Given the description of an element on the screen output the (x, y) to click on. 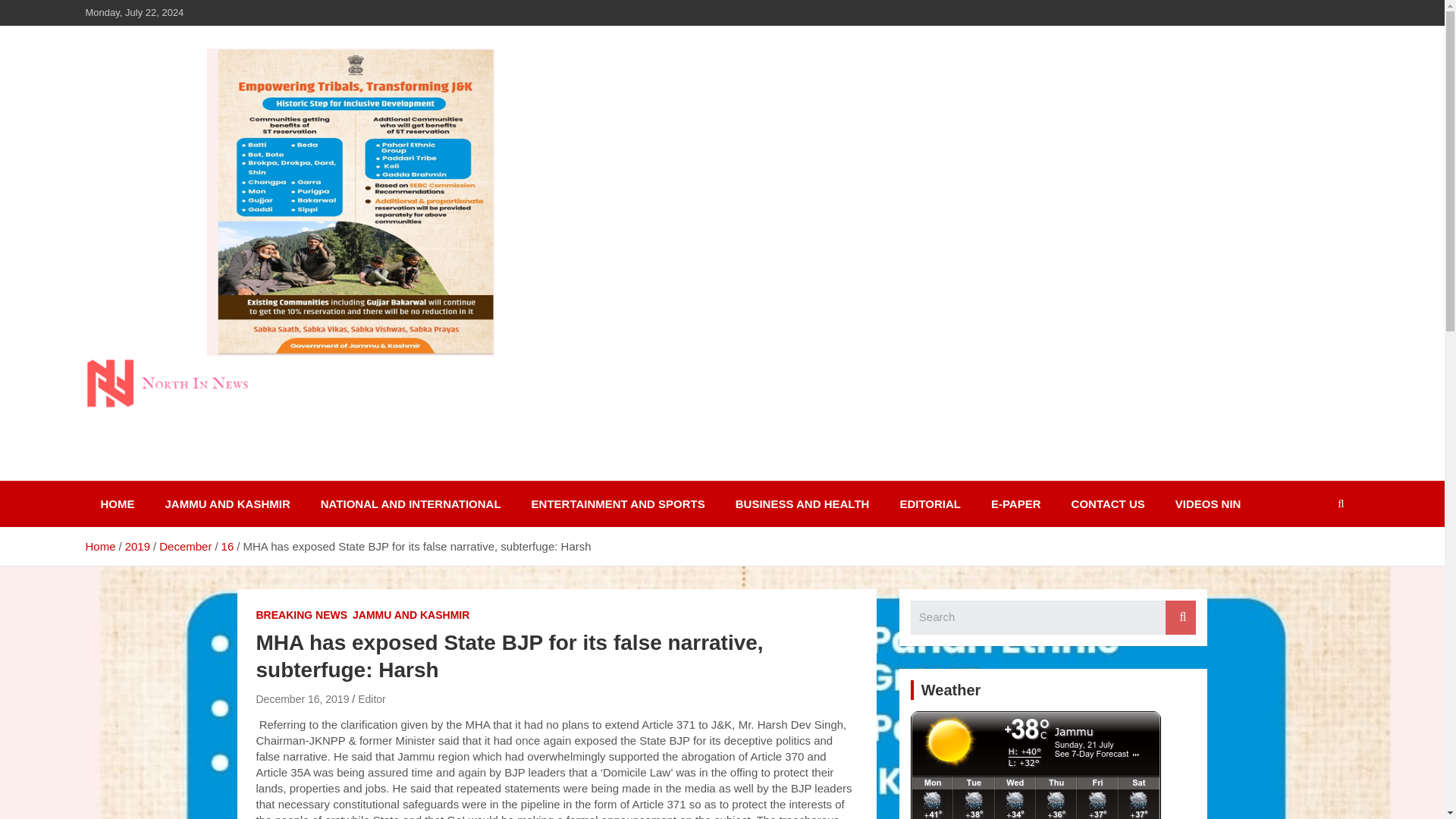
E-PAPER (1016, 503)
Home (99, 545)
JAMMU AND KASHMIR (227, 503)
HOME (116, 503)
JAMMU AND KASHMIR (410, 615)
December (184, 545)
EDITORIAL (929, 503)
2019 (137, 545)
North in News (186, 477)
Search (1180, 617)
VIDEOS NIN (1208, 503)
ENTERTAINMENT AND SPORTS (618, 503)
BREAKING NEWS (301, 615)
CONTACT US (1108, 503)
